Given the description of an element on the screen output the (x, y) to click on. 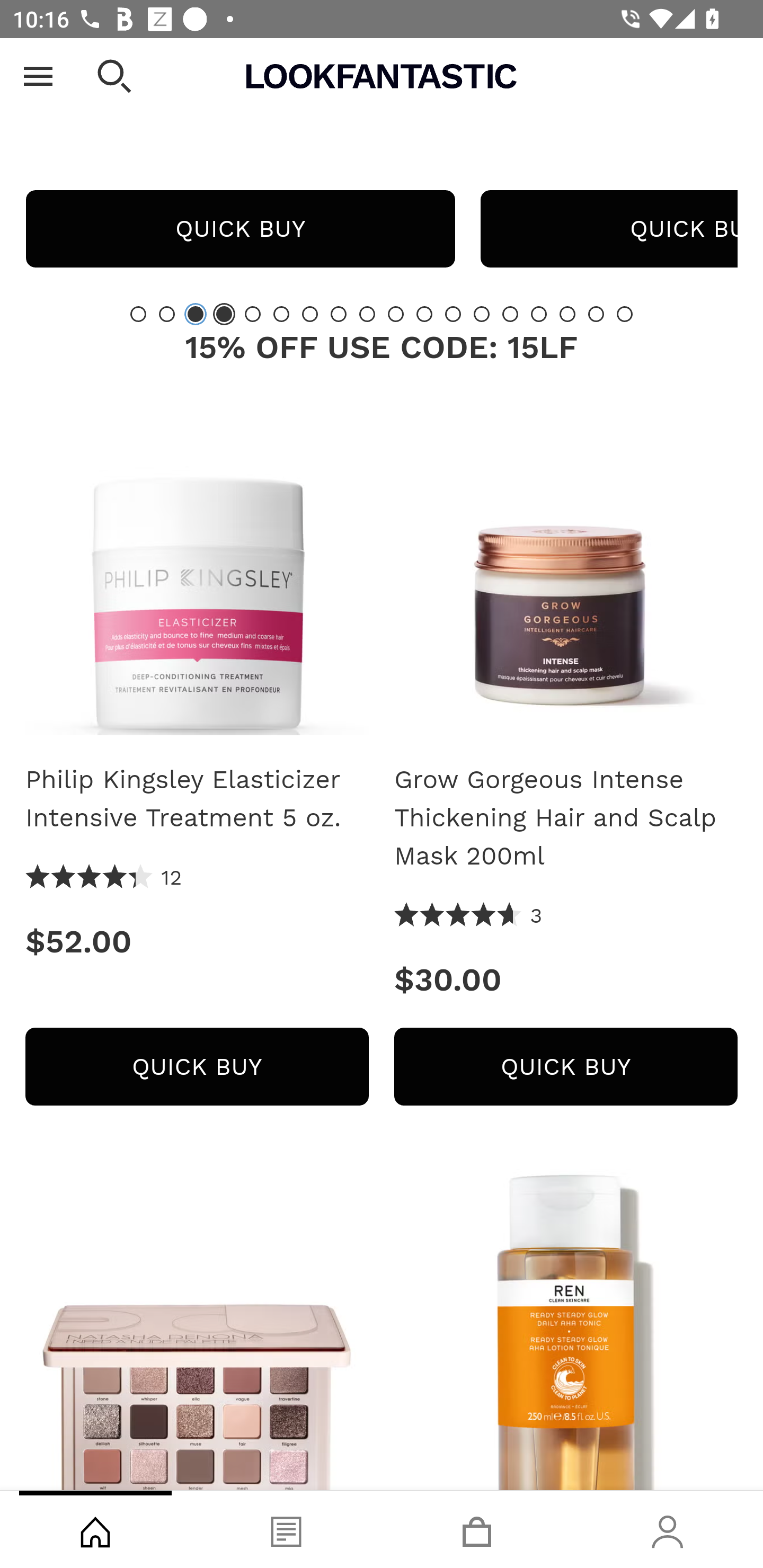
Slide 1 (138, 314)
Slide 2 (166, 314)
Showing Slide 3 (Current Item) (195, 314)
Showing Slide 4 (Current Item) (223, 314)
Slide 5 (252, 314)
Slide 6 (281, 314)
Slide 7 (310, 314)
Slide 8 (338, 314)
Slide 9 (367, 314)
Slide 10 (395, 314)
Slide 11 (424, 314)
Slide 12 (452, 314)
Slide 13 (481, 314)
Slide 14 (510, 314)
Slide 15 (539, 314)
Slide 16 (567, 314)
Slide 17 (596, 314)
Slide 18 (624, 314)
4.33 Stars 12 Reviews (104, 877)
4.67 Stars 3 Reviews (468, 916)
Price: $52.00 (196, 941)
Price: $30.00 (565, 979)
Natasha Denona I Need A Nude Palette (196, 1329)
Shop, tab, 1 of 4 (95, 1529)
Blog, tab, 2 of 4 (285, 1529)
Basket, tab, 3 of 4 (476, 1529)
Account, tab, 4 of 4 (667, 1529)
